Given the description of an element on the screen output the (x, y) to click on. 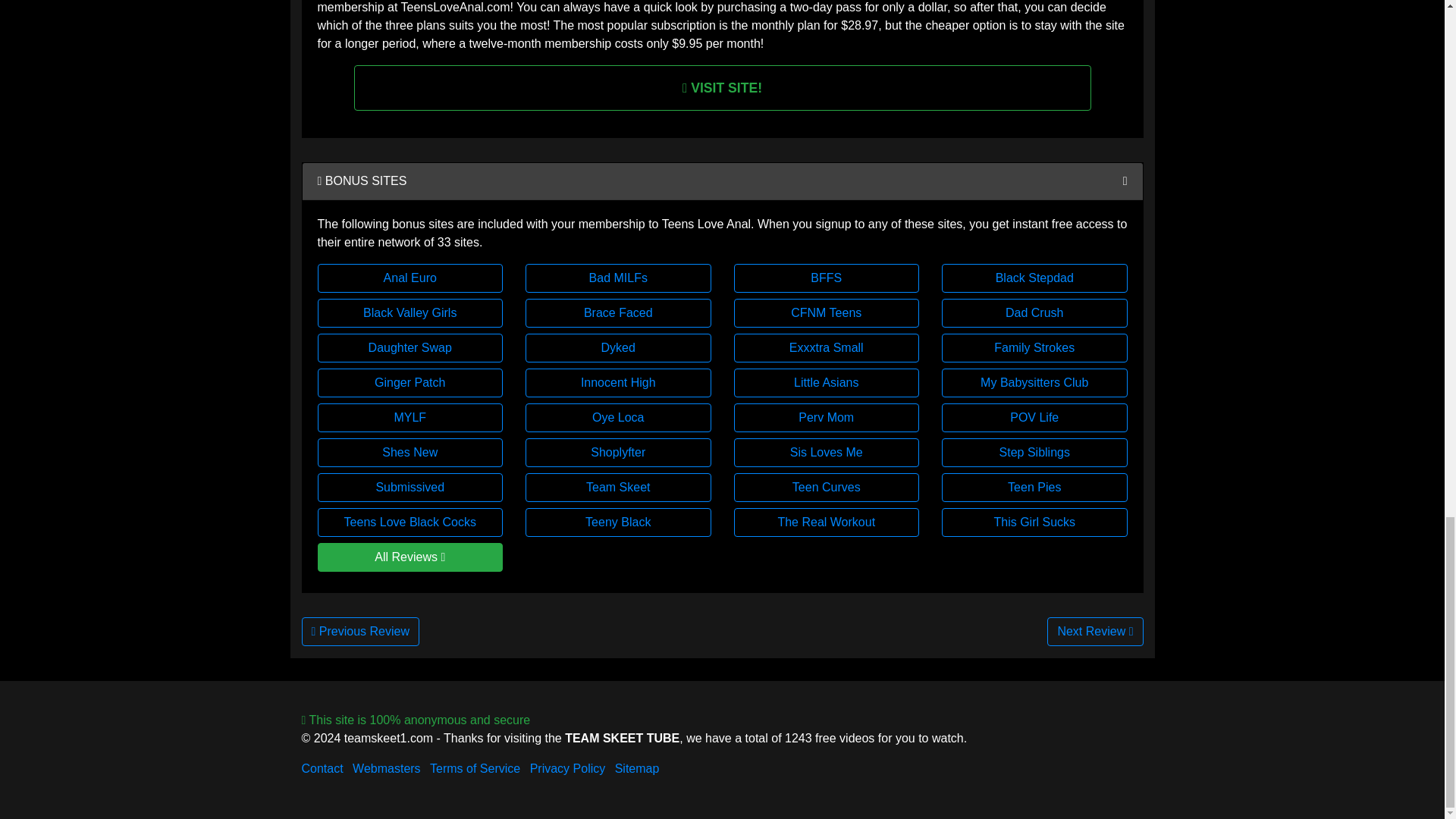
Bad MILFs (618, 277)
BFFS review (826, 277)
Bad MILFs review (618, 277)
Exxxtra Small (826, 347)
Anal Euro (409, 277)
Black Stepdad (1034, 277)
Innocent High (618, 382)
Little Asians (826, 382)
Brace Faced (618, 312)
Dad Crush (1034, 312)
